Given the description of an element on the screen output the (x, y) to click on. 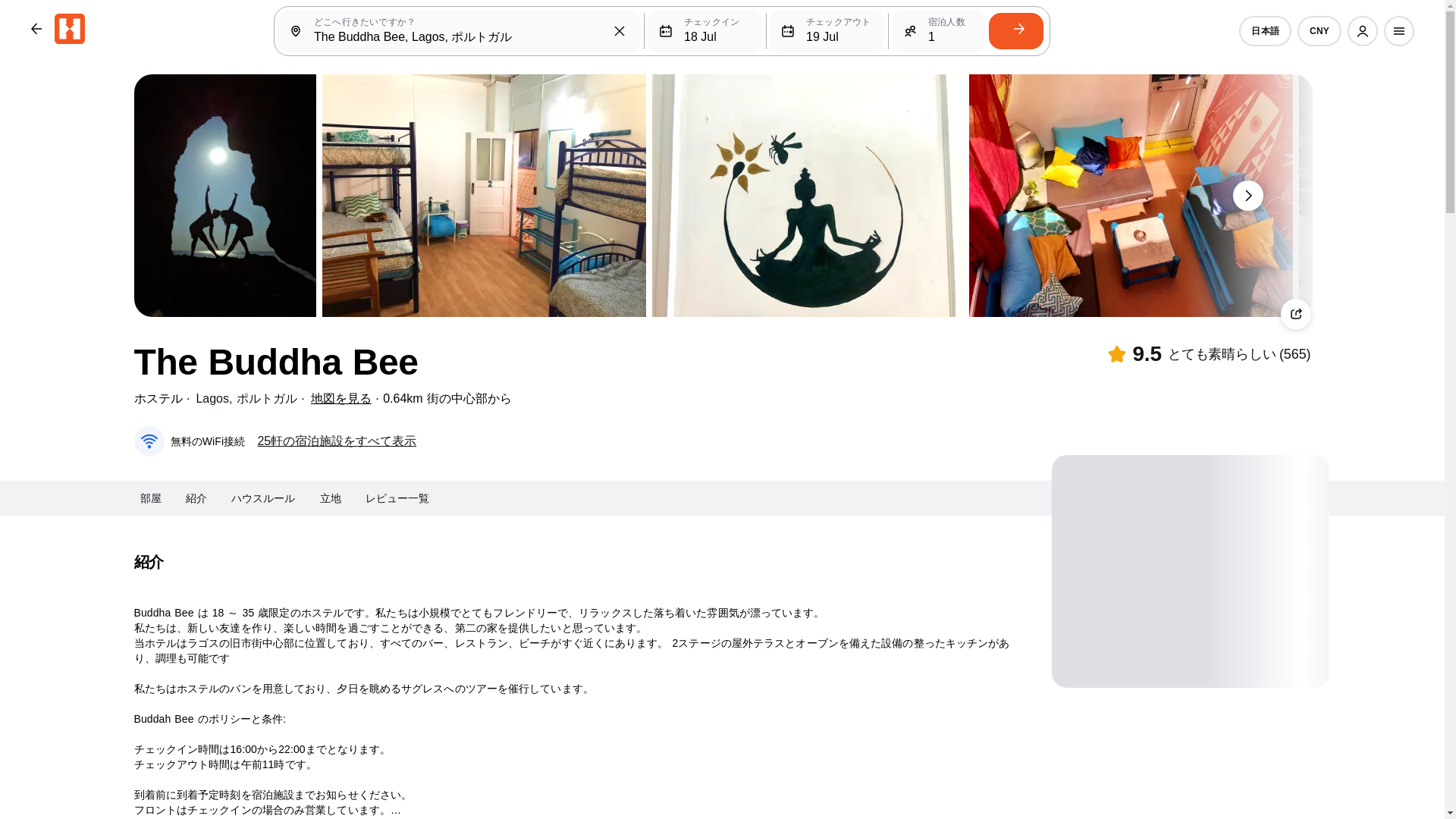
1 (938, 30)
CNY (1318, 30)
hw-icon (69, 28)
19 Jul (827, 30)
18 Jul (704, 30)
